Given the description of an element on the screen output the (x, y) to click on. 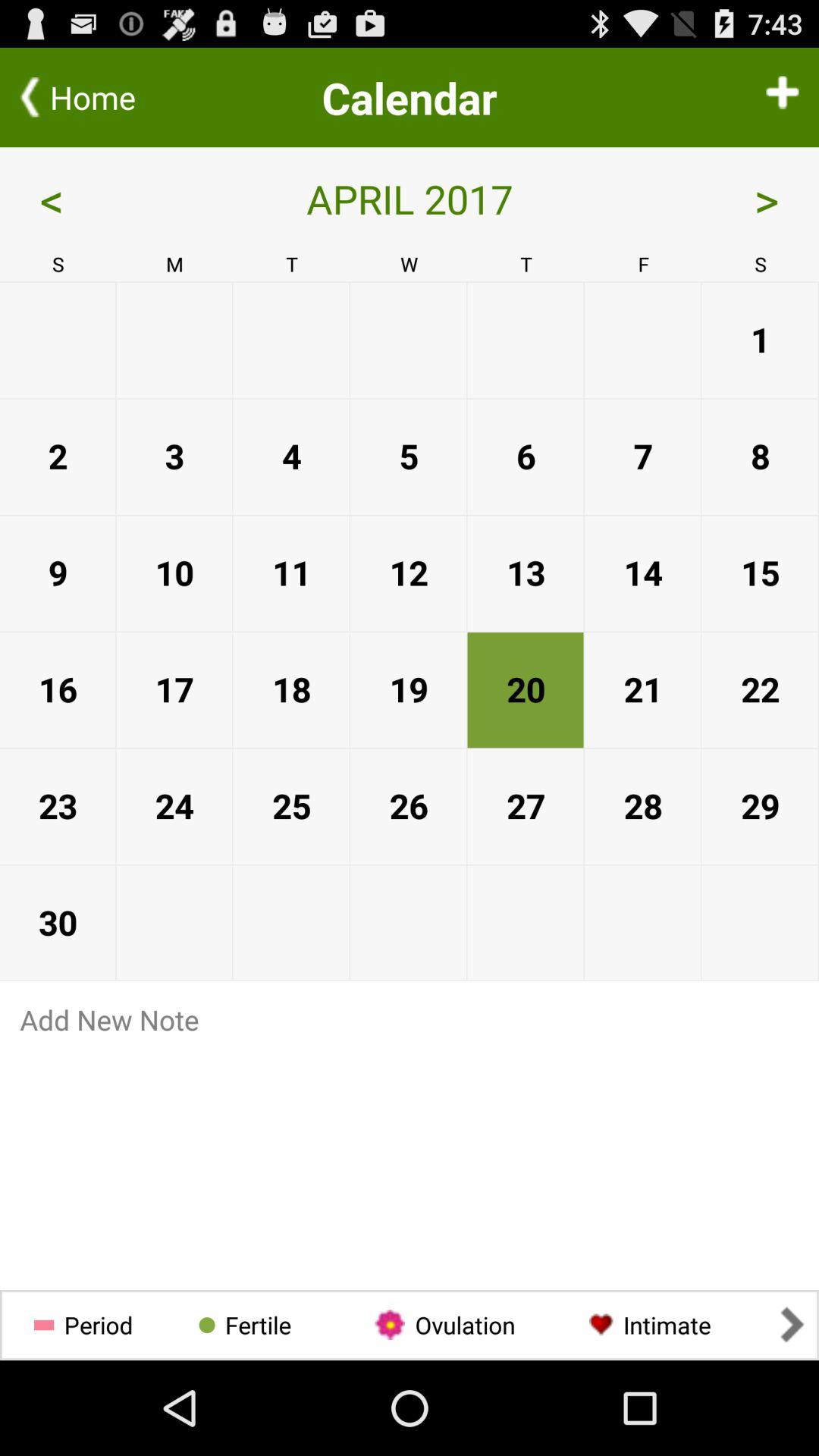
add new note (409, 1019)
